Given the description of an element on the screen output the (x, y) to click on. 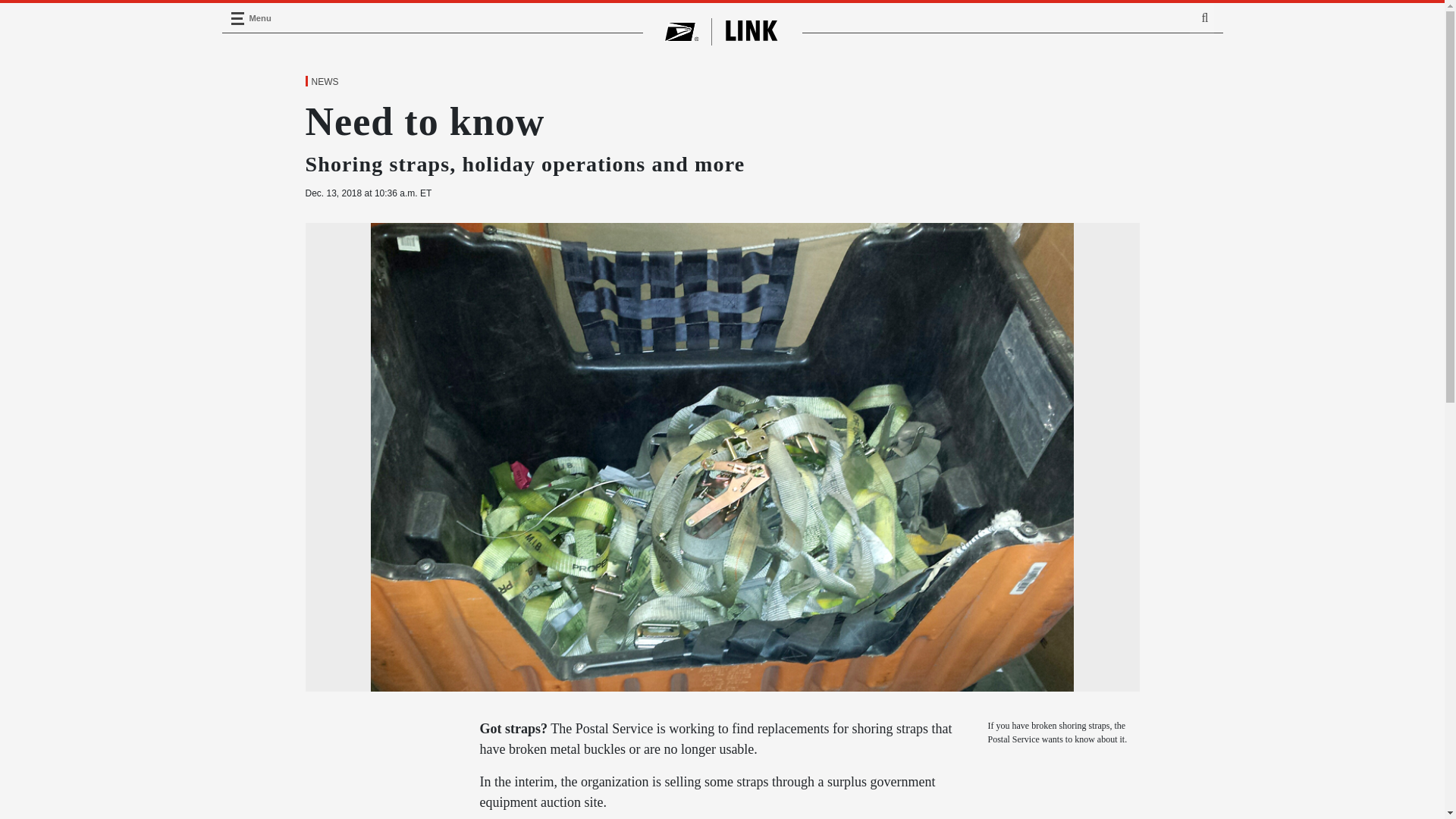
Menu (237, 18)
NEWS (323, 81)
